Given the description of an element on the screen output the (x, y) to click on. 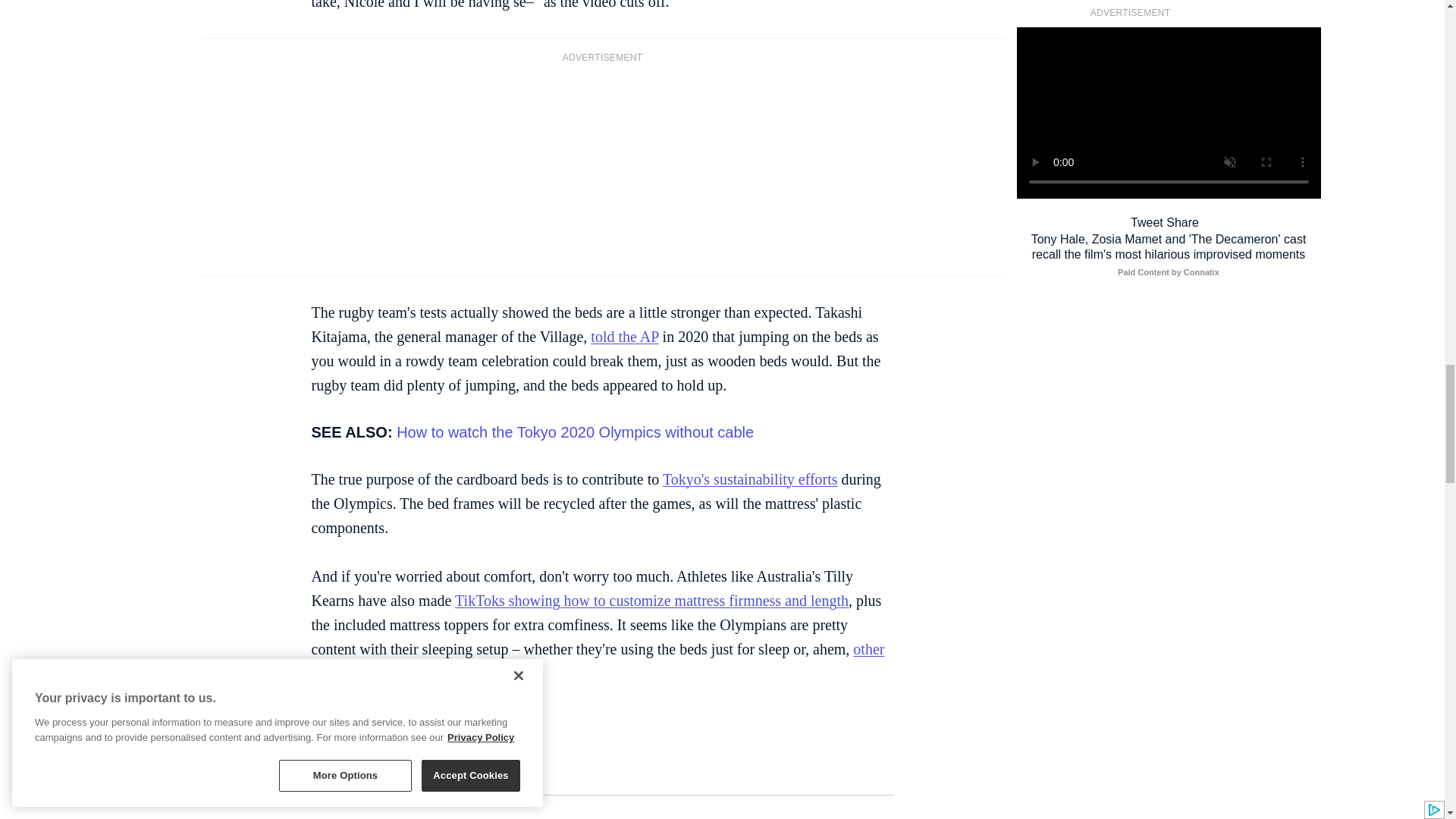
3rd party ad content (601, 167)
